Given the description of an element on the screen output the (x, y) to click on. 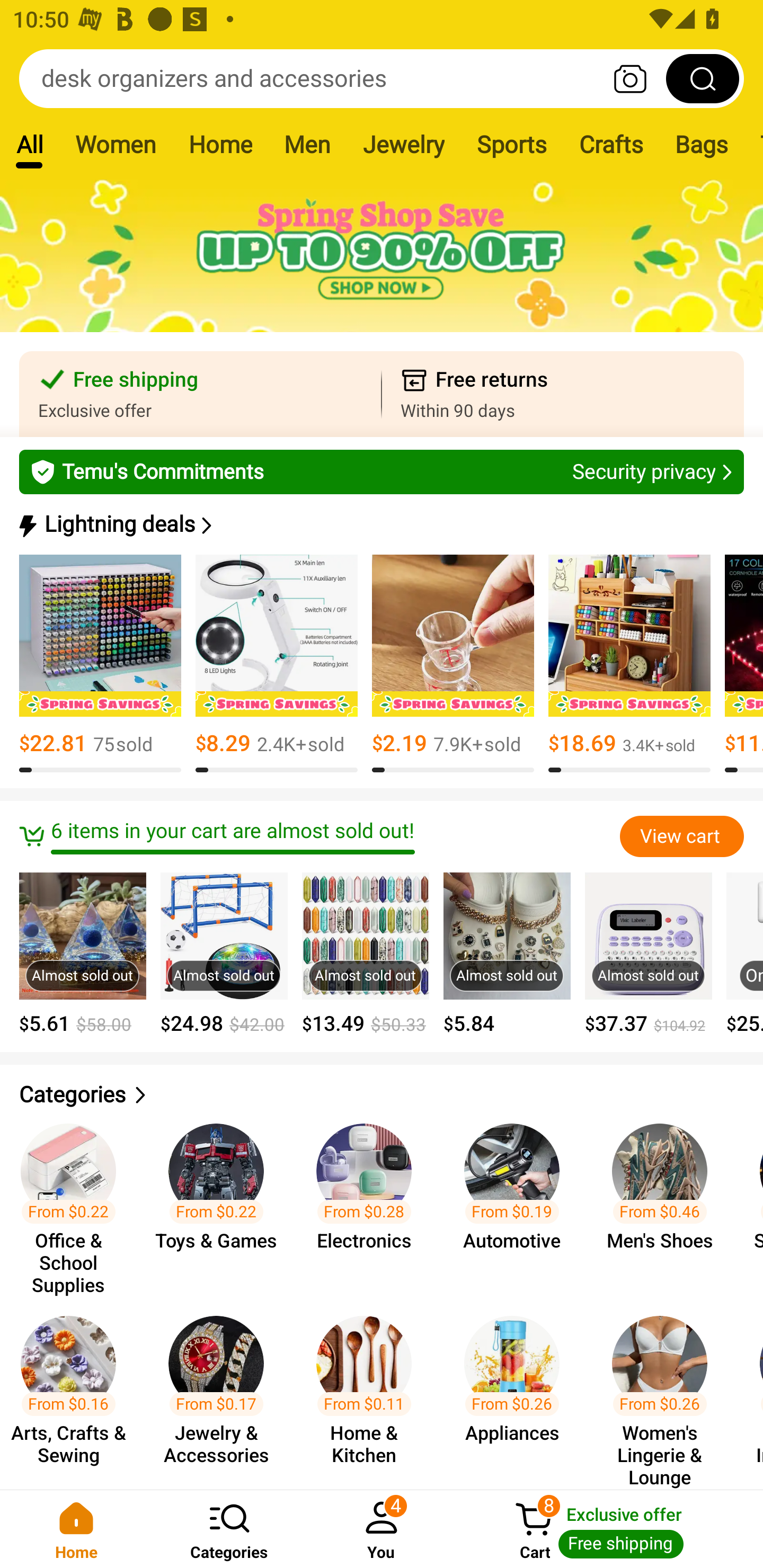
desk organizers and accessories (381, 78)
All (29, 144)
Women (115, 144)
Home (219, 144)
Men (306, 144)
Jewelry (403, 144)
Sports (511, 144)
Crafts (611, 144)
Bags (701, 144)
Free shipping Exclusive offer (200, 394)
Free returns Within 90 days (562, 394)
Temu's Commitments (381, 471)
Lightning deals (379, 524)
$22.81 75￼sold 8.0 (100, 664)
$8.29 2.4K+￼sold 8.0 (276, 664)
$2.19 7.9K+￼sold 8.0 (453, 664)
$18.69 3.4K+￼sold 8.0 (629, 664)
6 items in your cart are almost sold out! (319, 836)
View cart  (681, 836)
Almost sold out $5.61 $58.00 (82, 953)
Almost sold out $24.98 $42.00 (223, 953)
Almost sold out $13.49 $50.33 (365, 953)
Almost sold out $5.84 (506, 953)
Almost sold out $37.37 $104.92 (648, 953)
Categories (381, 1094)
From $0.22 Office & School Supplies (74, 1199)
From $0.22 Toys & Games (222, 1199)
From $0.28 Electronics (369, 1199)
From $0.19 Automotive (517, 1199)
From $0.46 Men's Shoes (665, 1199)
From $0.16 Arts, Crafts & Sewing (74, 1392)
From $0.17 Jewelry & Accessories (222, 1392)
From $0.11 Home & Kitchen (369, 1392)
From $0.26 Appliances (517, 1392)
From $0.26 Women's Lingerie & Lounge (665, 1392)
Home (76, 1528)
Categories (228, 1528)
You 4 You (381, 1528)
Cart 8 Cart Exclusive offer (610, 1528)
